Given the description of an element on the screen output the (x, y) to click on. 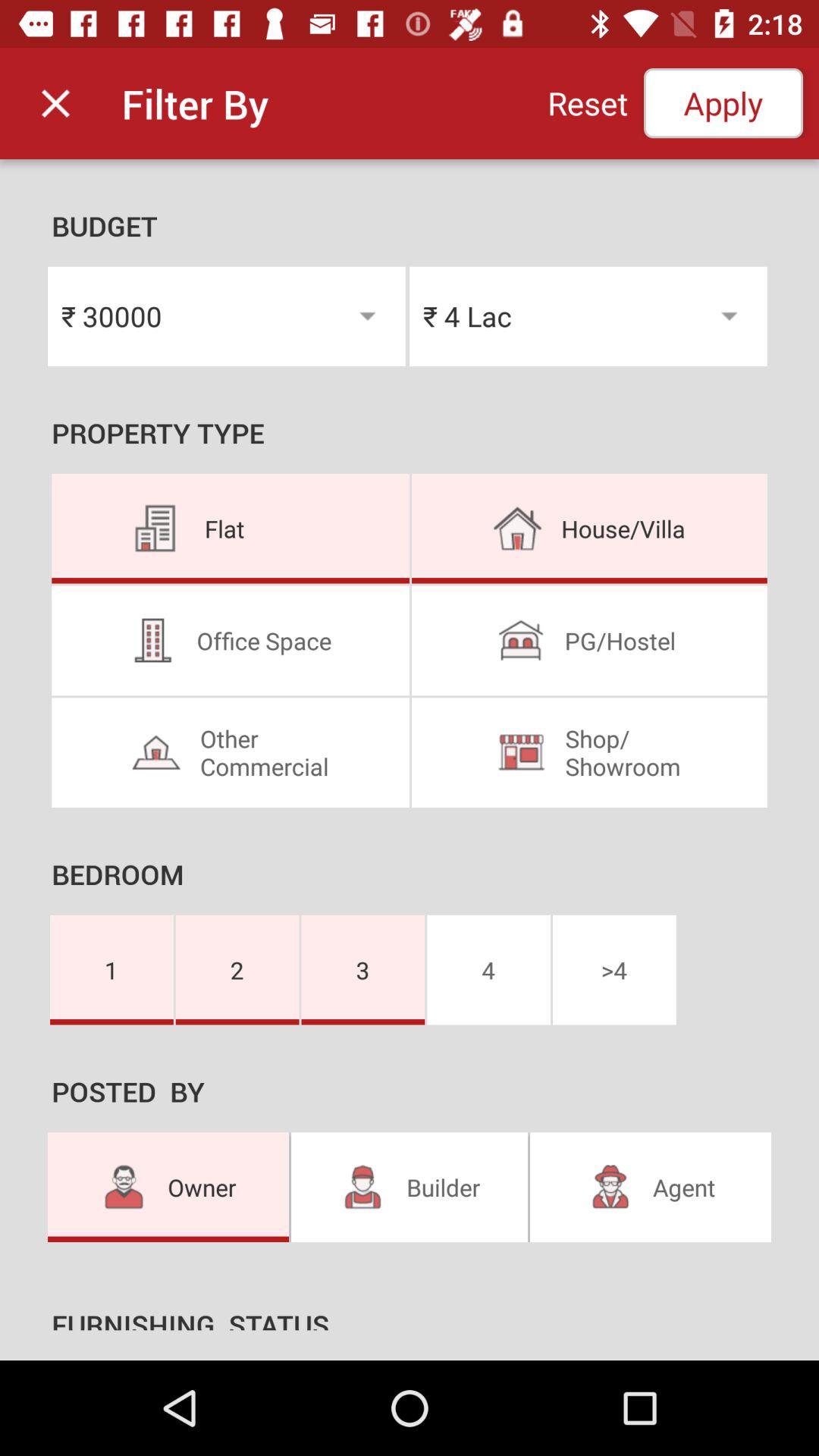
turn off reset (587, 103)
